Given the description of an element on the screen output the (x, y) to click on. 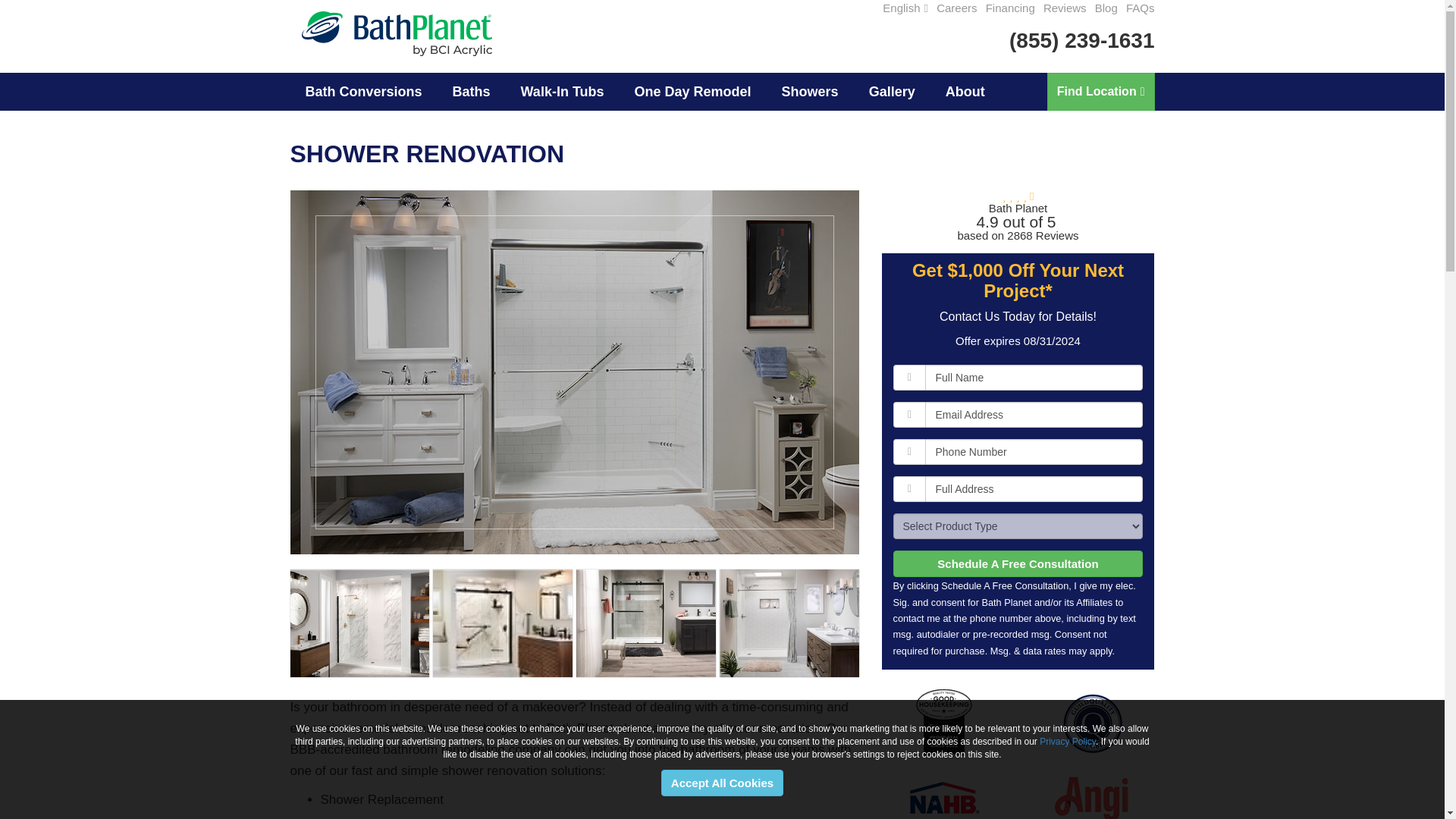
Careers (956, 7)
Financing (1010, 7)
Reviews (1064, 7)
Showers (810, 91)
One Day Remodel (693, 91)
FAQs (1139, 7)
Walk-In Tubs (562, 91)
Bath Conversions (362, 91)
Baths (471, 91)
Blog (1106, 7)
